Given the description of an element on the screen output the (x, y) to click on. 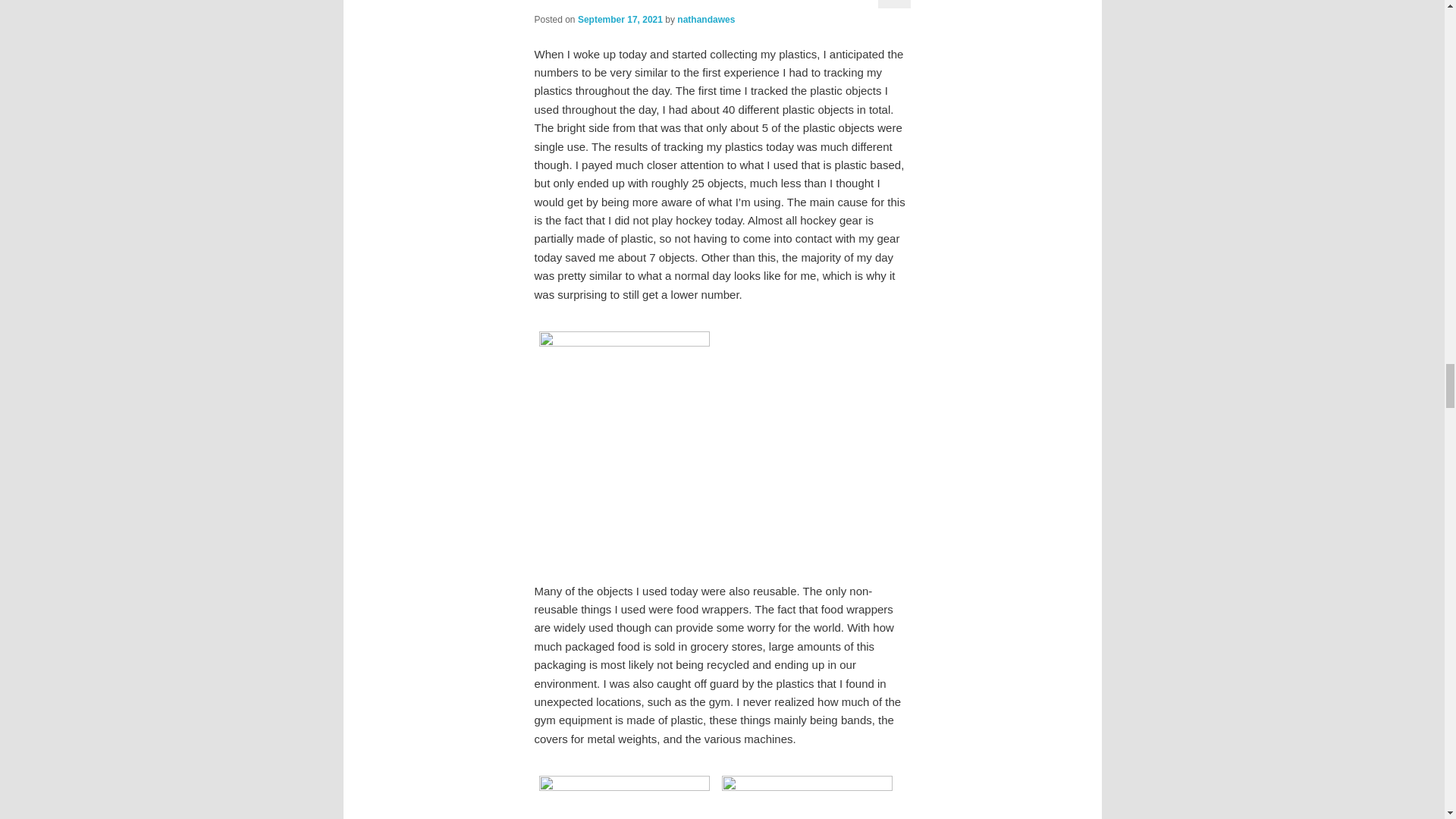
nathandawes (706, 19)
9:09 pm (620, 19)
Plastic All Around (617, 2)
View all posts by nathandawes (706, 19)
Permalink to Plastic All Around (617, 2)
September 17, 2021 (620, 19)
